Given the description of an element on the screen output the (x, y) to click on. 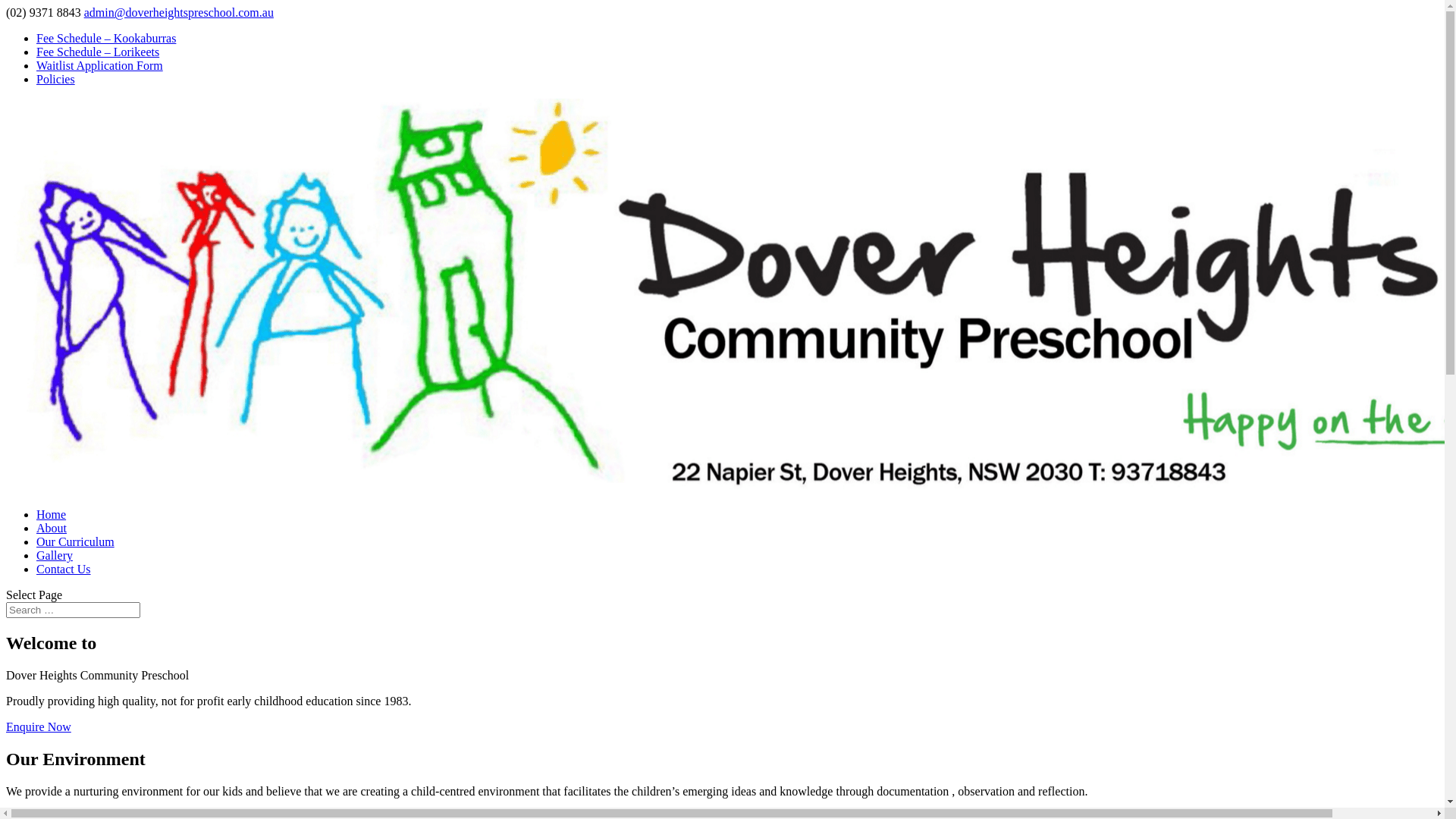
Our Curriculum Element type: text (75, 541)
admin@doverheightspreschool.com.au Element type: text (178, 12)
Enquire Now Element type: text (38, 726)
Waitlist Application Form Element type: text (99, 65)
About Element type: text (51, 527)
Home Element type: text (50, 514)
Search for: Element type: hover (73, 610)
Contact Us Element type: text (63, 568)
Policies Element type: text (55, 78)
Gallery Element type: text (54, 555)
